Given the description of an element on the screen output the (x, y) to click on. 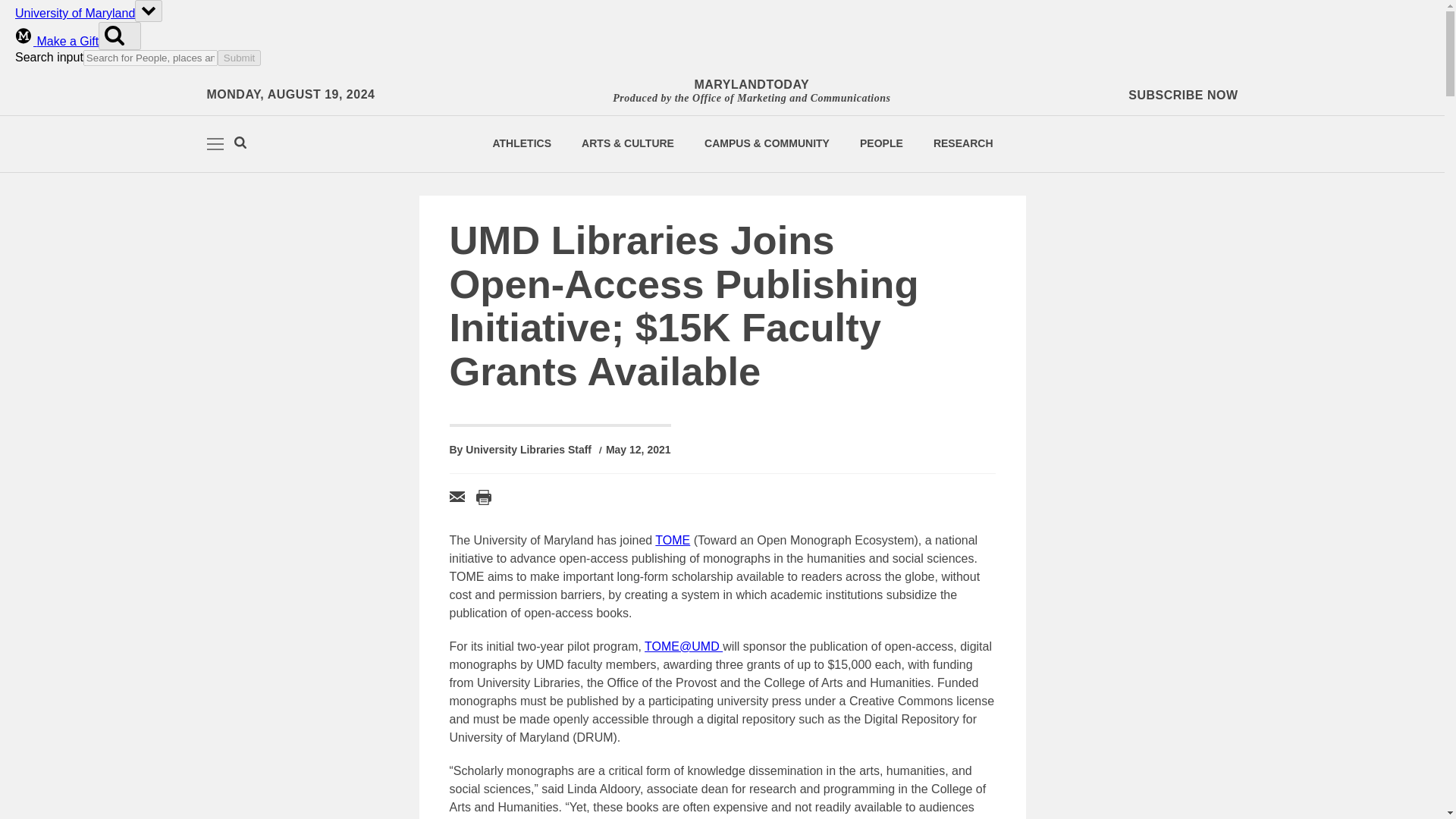
ATHLETICS (522, 143)
RESEARCH (962, 143)
University Libraries Staff (528, 449)
Search (239, 144)
SUBSCRIBE NOW (1182, 95)
PEOPLE (881, 143)
TOME (672, 540)
MARYLANDTODAY (750, 84)
